Given the description of an element on the screen output the (x, y) to click on. 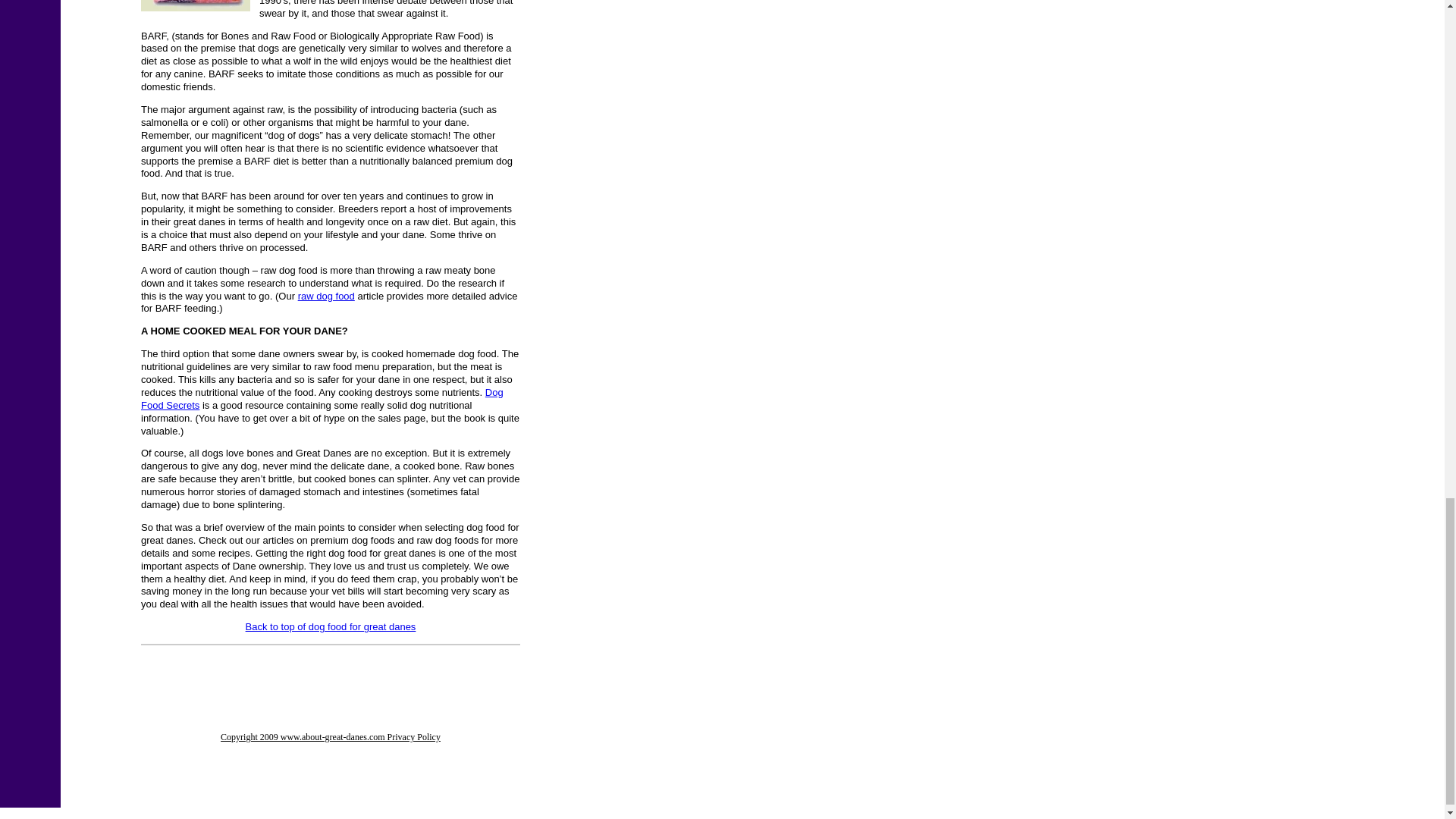
raw dog food (326, 296)
Back to top of dog food for great danes (331, 626)
Copyright 2009 www.about-great-danes.com Privacy Policy (331, 748)
Dog Food Secrets (322, 398)
premium great dane dog food (195, 5)
